Given the description of an element on the screen output the (x, y) to click on. 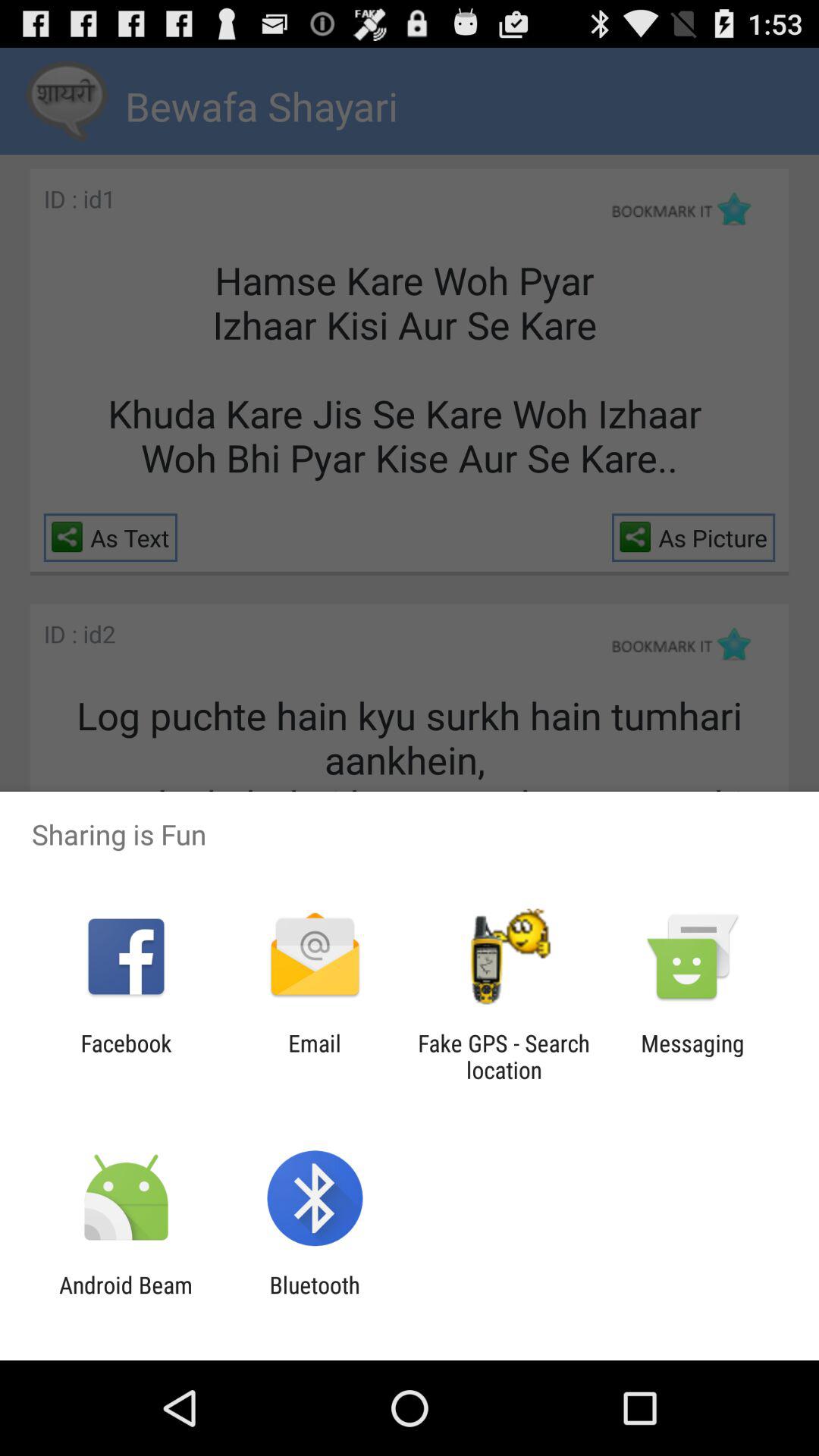
tap the item next to facebook icon (314, 1056)
